Given the description of an element on the screen output the (x, y) to click on. 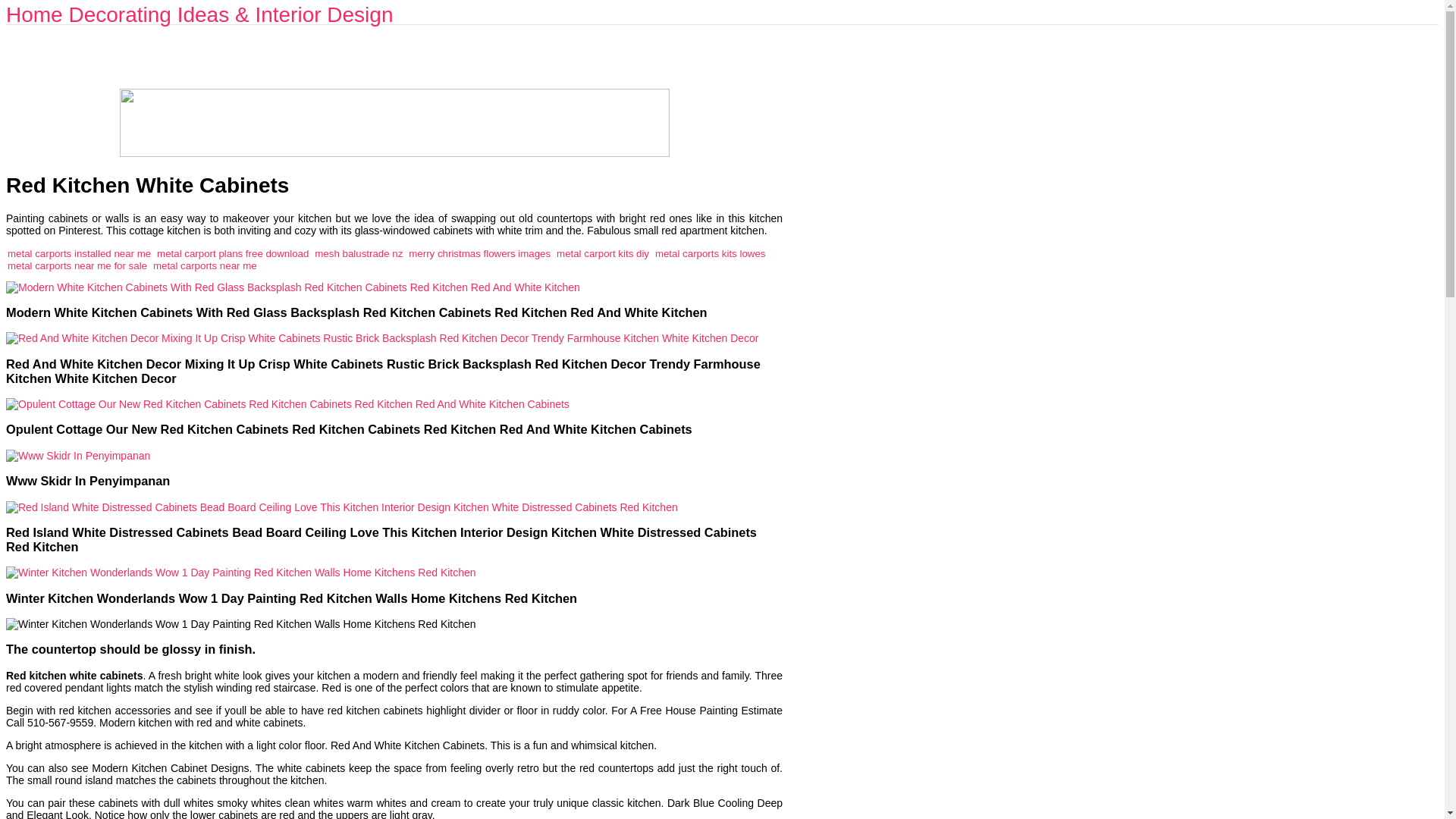
metal carports kits lowes (710, 252)
metal carports near me (204, 265)
mesh balustrade nz (358, 252)
metal carports installed near me (79, 252)
metal carports near me for sale (77, 265)
metal carport plans free download (232, 252)
metal carport kits diy (602, 252)
merry christmas flowers images (479, 252)
